Given the description of an element on the screen output the (x, y) to click on. 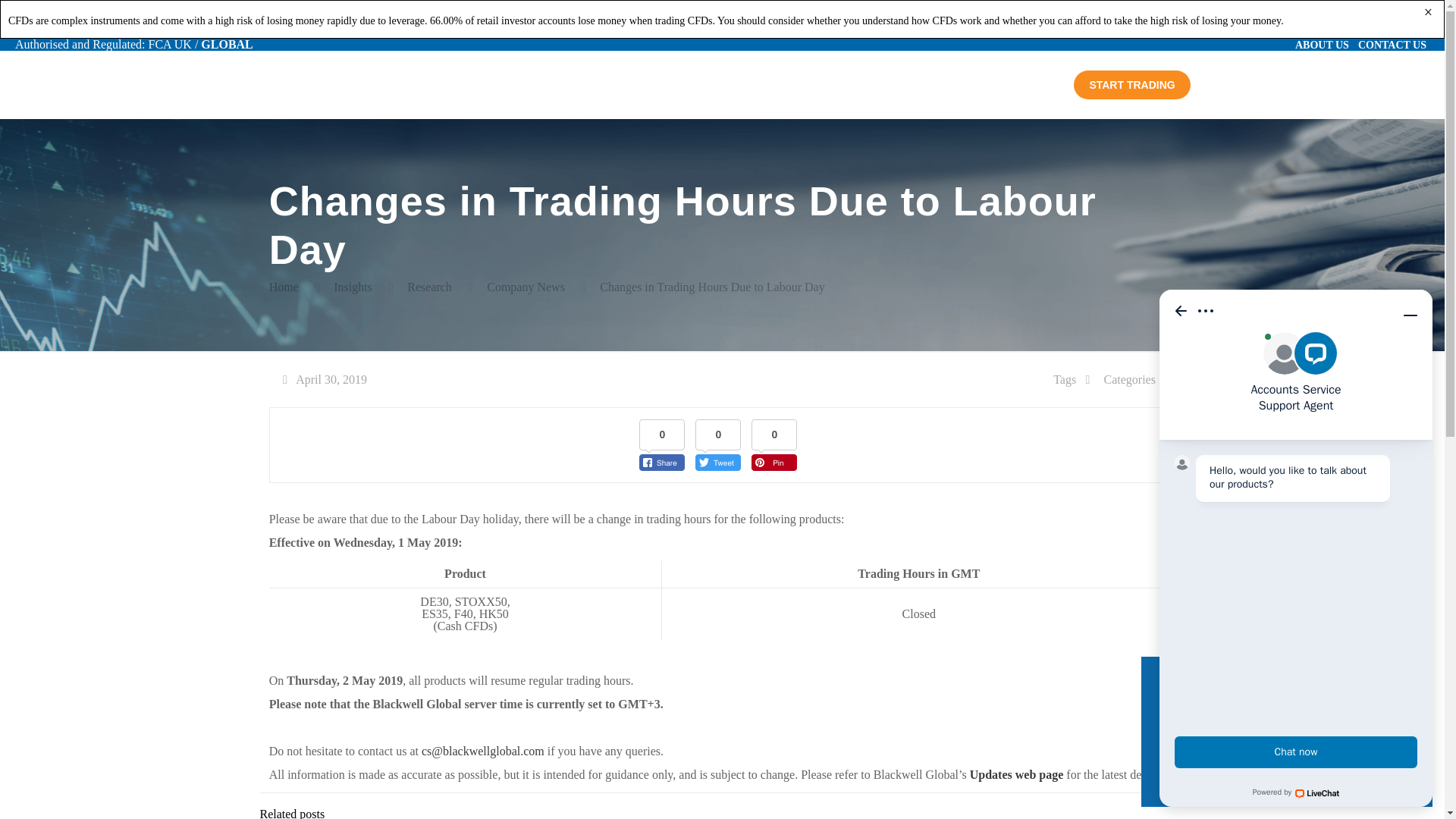
Blackwell Global (359, 84)
CONTACT US (1392, 44)
ABOUT US (1322, 44)
Learn more (1198, 728)
FCA UK (170, 43)
Got it! (1286, 767)
Traders (550, 84)
